Given the description of an element on the screen output the (x, y) to click on. 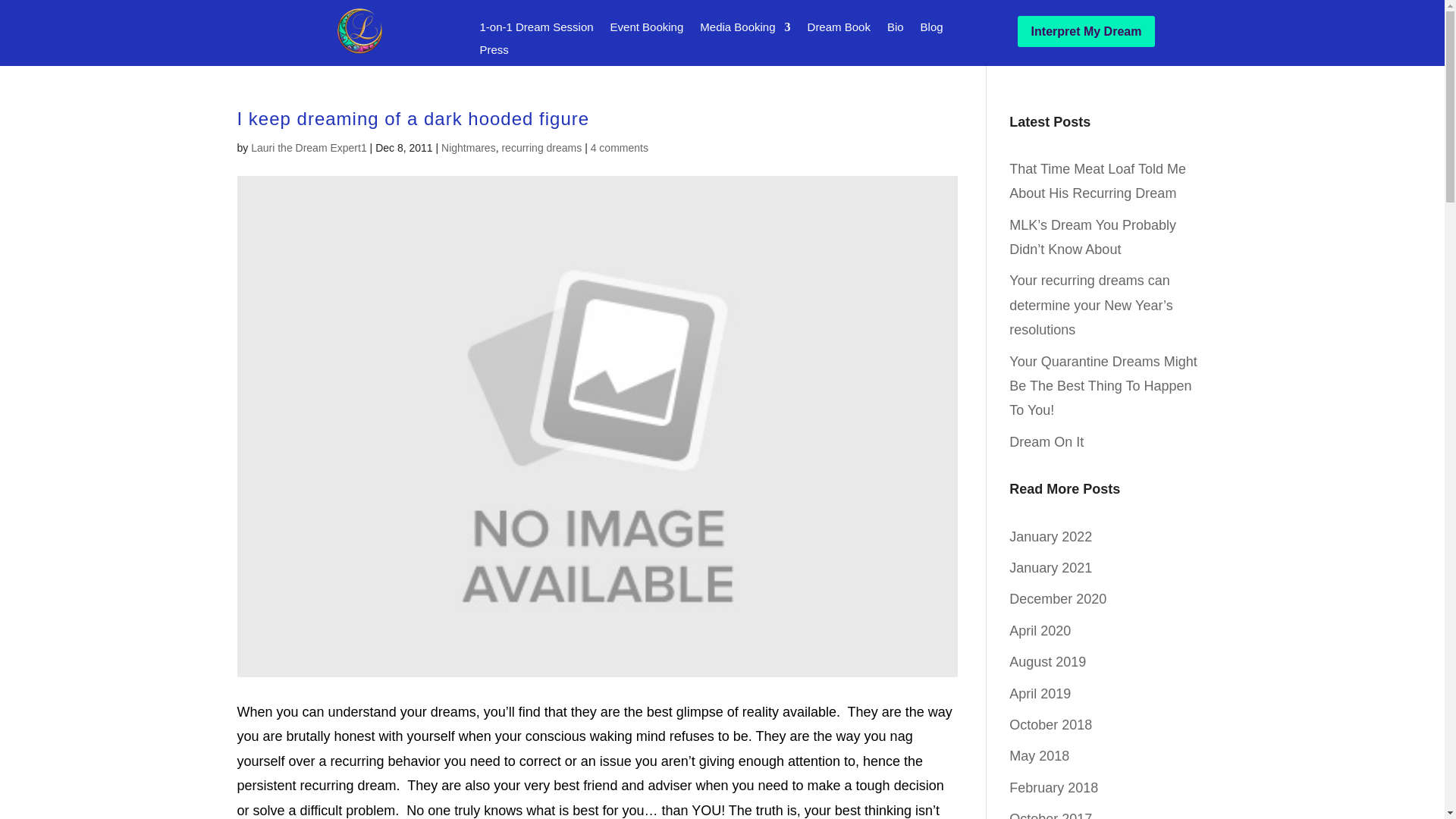
Interpret My Dream (1086, 30)
Dream Book (839, 30)
cropped-Dream-Site-Logo.png (357, 29)
1-on-1 Dream Session (535, 30)
Bio (895, 30)
Media Booking (745, 30)
Event Booking (647, 30)
Blog (931, 30)
Press (493, 53)
Posts by Lauri the Dream Expert1 (308, 146)
